Given the description of an element on the screen output the (x, y) to click on. 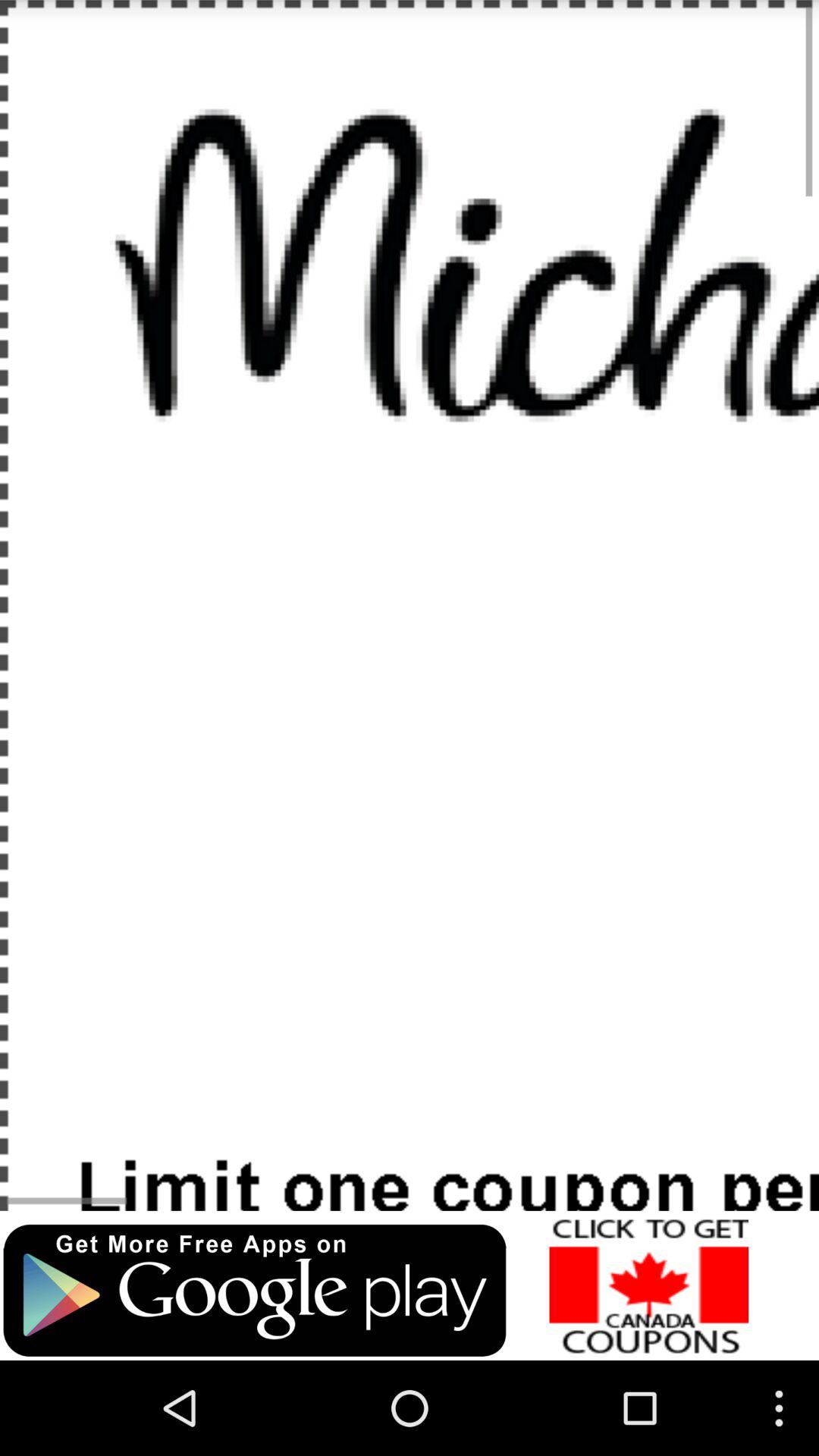
advertisement (648, 1285)
